Given the description of an element on the screen output the (x, y) to click on. 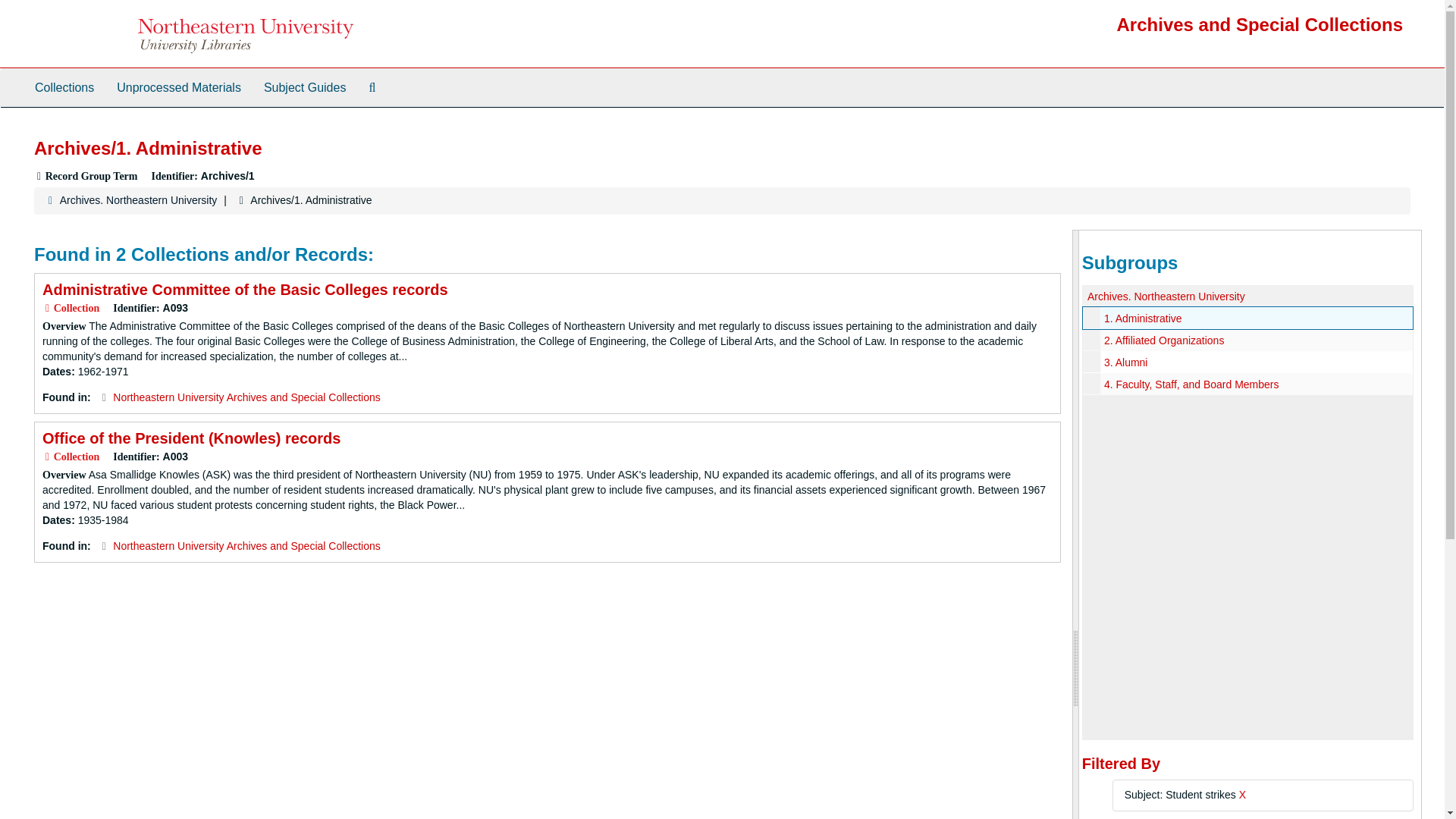
Remove this filter  (1242, 794)
Administrative Committee of the Basic Colleges records (245, 289)
Northeastern University Archives and Special Collections (246, 545)
Subject Guides (304, 87)
1. Administrative (1142, 318)
Affiliated Organizations (1247, 340)
Archives and Special Collections (1259, 24)
Administrative (1247, 318)
Search The Archives (371, 87)
Archives. Northeastern University (1165, 296)
2. Affiliated Organizations (1163, 340)
Search The Archives (371, 87)
X (1242, 794)
Return to the Archives homepage (1259, 24)
